Given the description of an element on the screen output the (x, y) to click on. 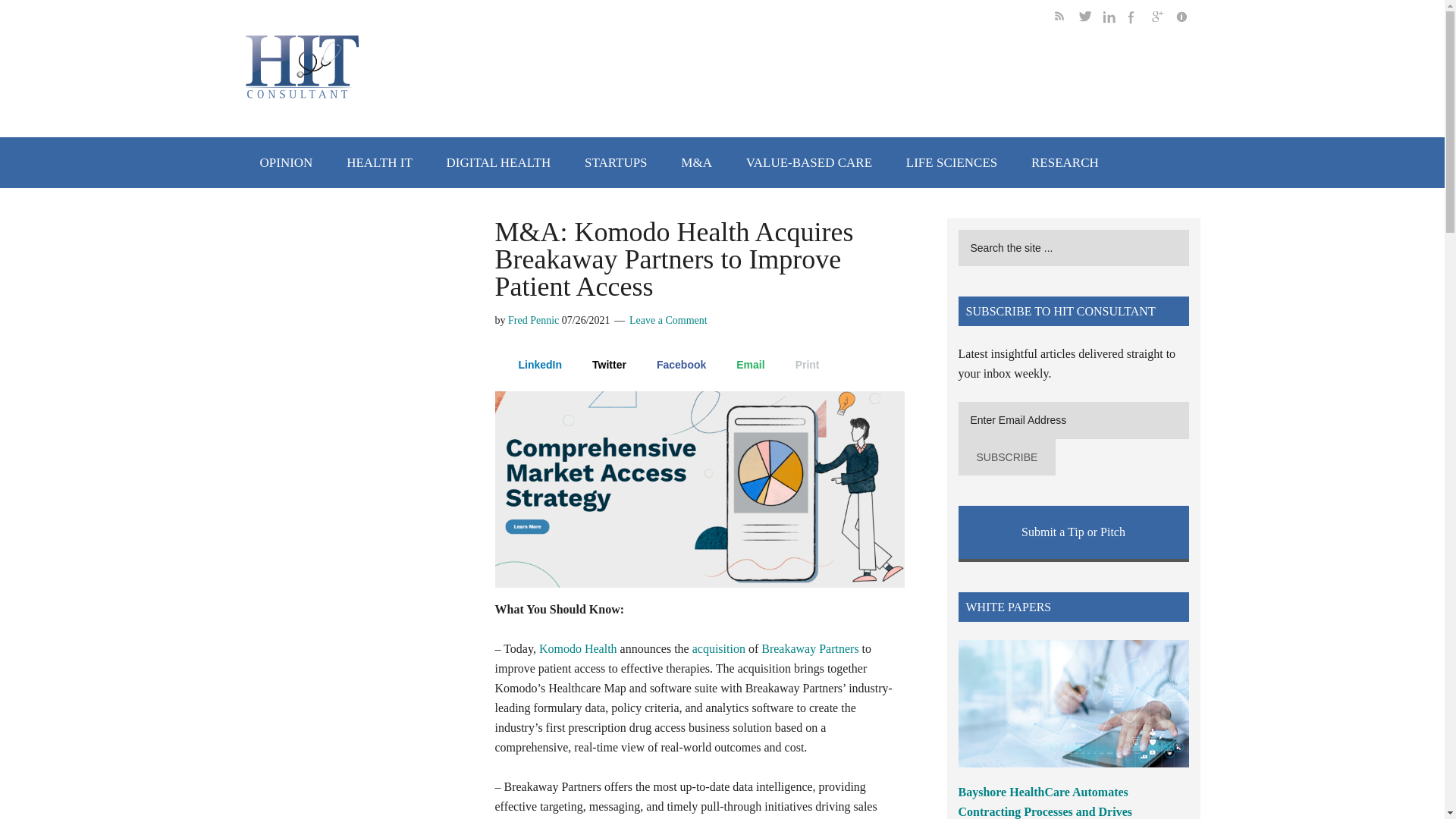
LinkedIn (532, 364)
RESEARCH (1064, 162)
HEALTH IT (379, 162)
follow (1162, 19)
Subscribe (1007, 456)
follow (1114, 19)
LIFE SCIENCES (951, 162)
Facebook (673, 364)
